Given the description of an element on the screen output the (x, y) to click on. 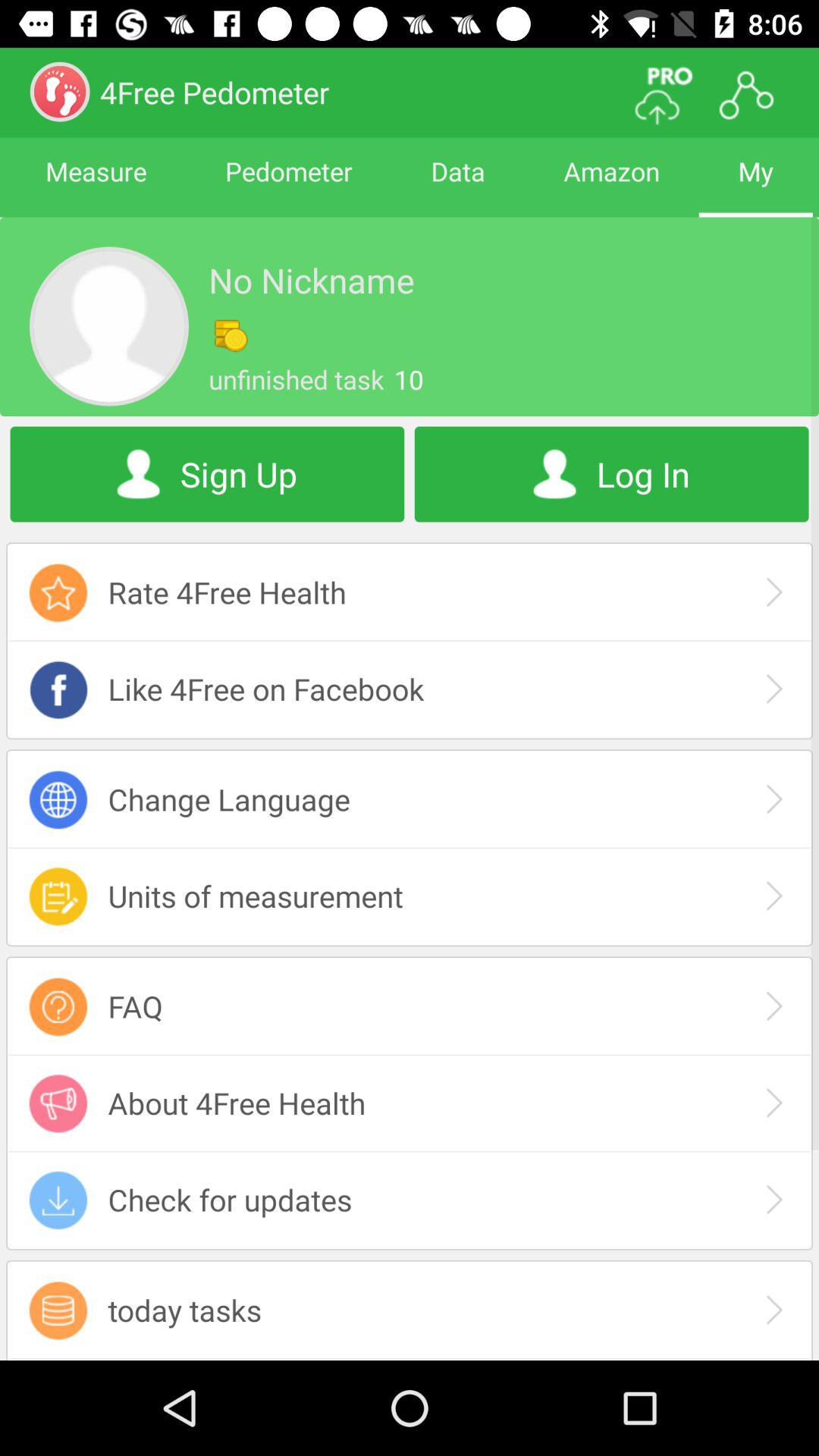
click on like 4free on facebook (409, 689)
select the signup button on page (207, 474)
click on the empty profile image option (109, 326)
click on data (458, 185)
